Given the description of an element on the screen output the (x, y) to click on. 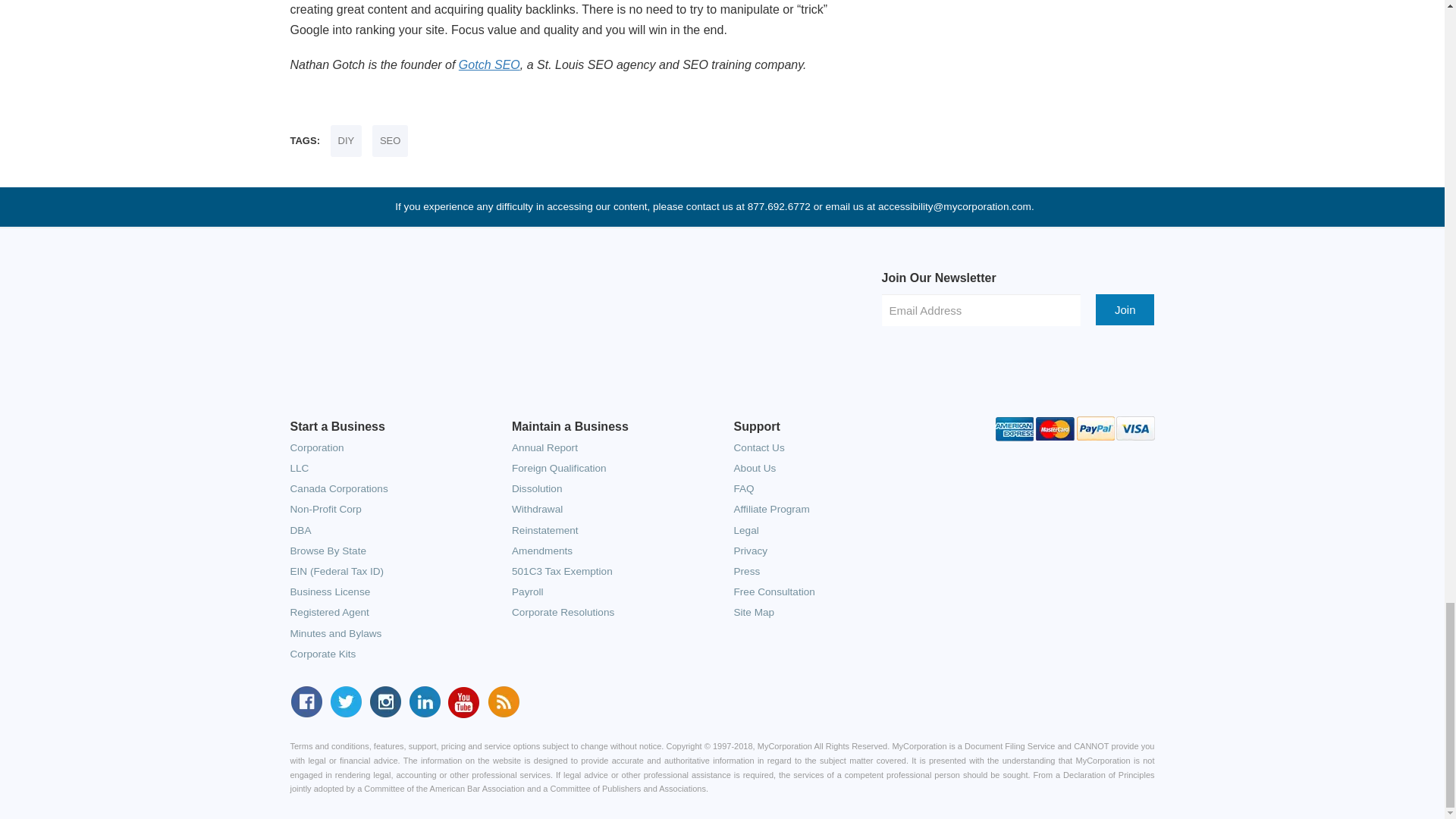
Join (1125, 309)
